Given the description of an element on the screen output the (x, y) to click on. 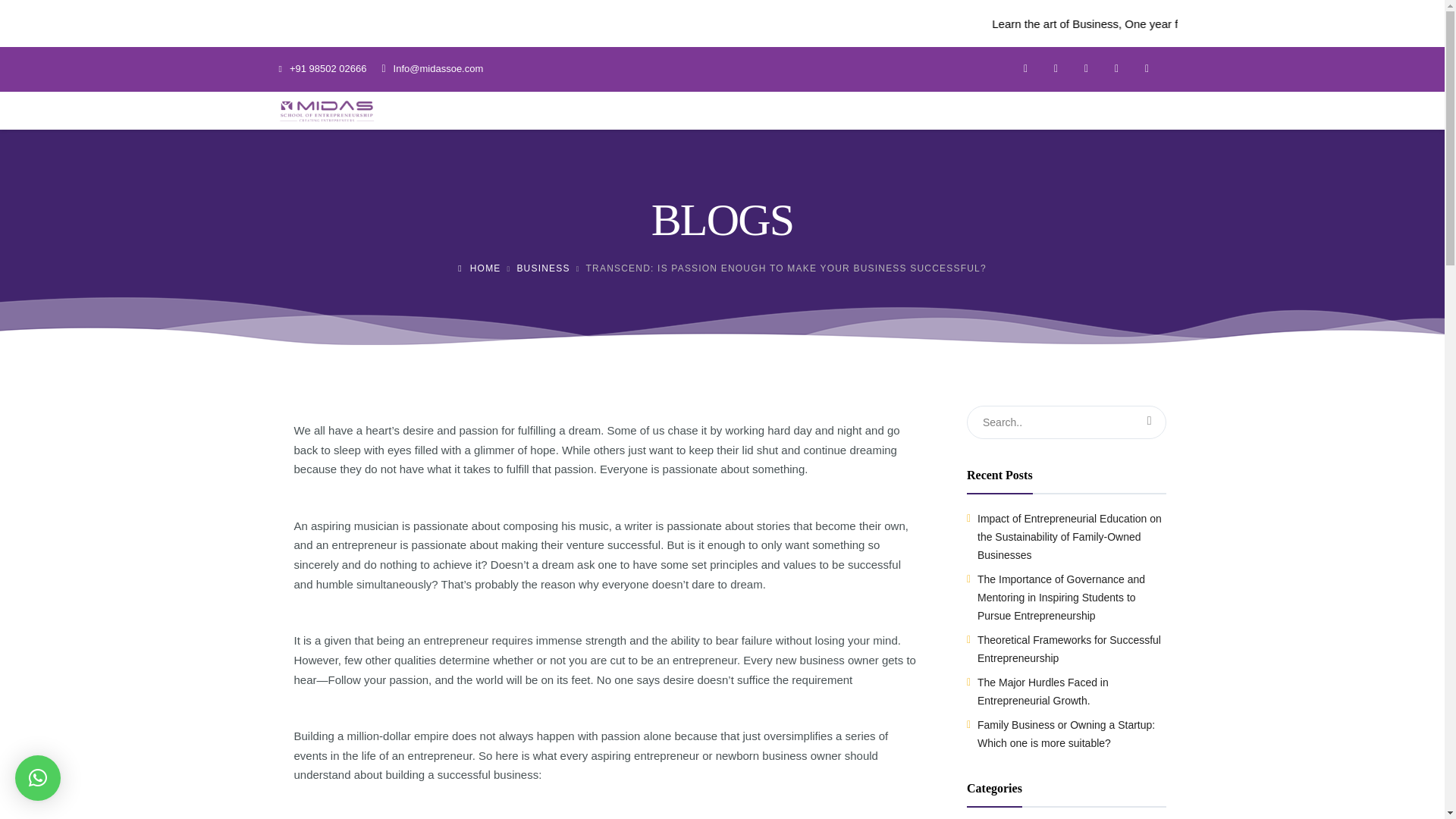
Linkedin (1120, 69)
Instagram (1090, 69)
Twitter (1060, 69)
Facebook (1029, 69)
Youtube (1150, 69)
